Given the description of an element on the screen output the (x, y) to click on. 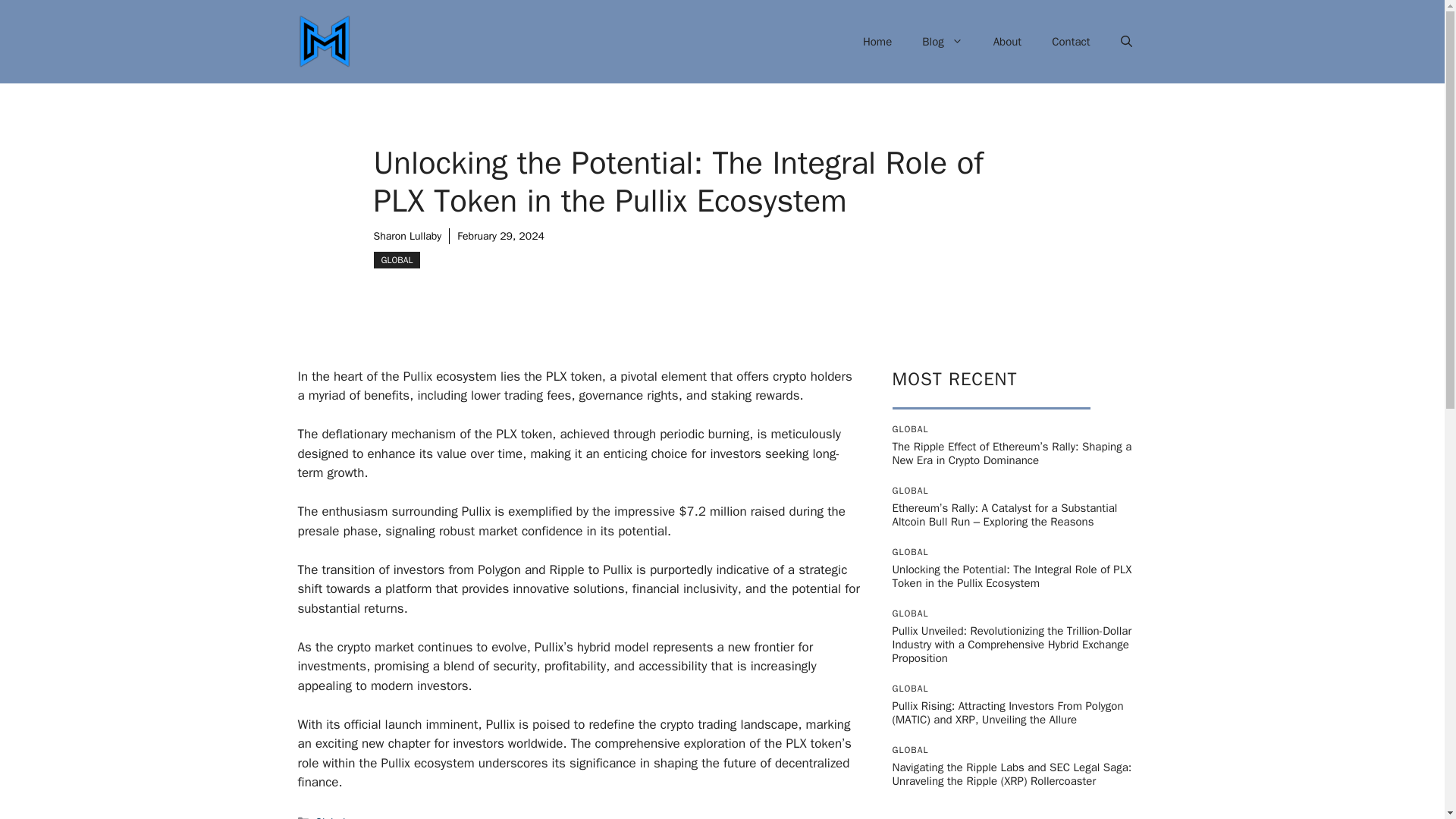
Home (877, 41)
Global (330, 816)
Sharon Lullaby (406, 236)
About (1007, 41)
Blog (941, 41)
GLOBAL (396, 259)
Contact (1070, 41)
